Given the description of an element on the screen output the (x, y) to click on. 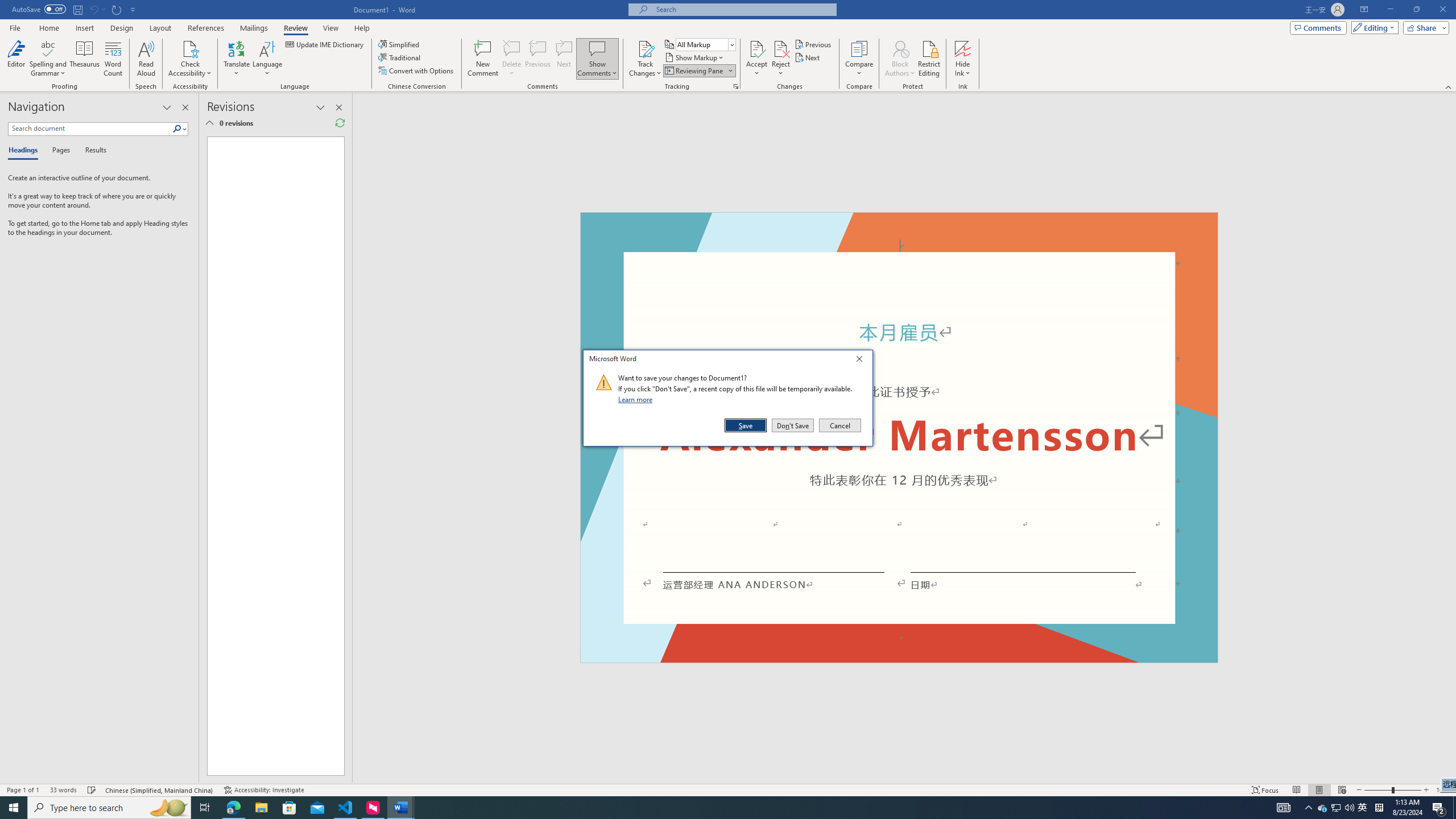
Editor (16, 58)
Learn more (636, 399)
Mailings (253, 28)
Previous (813, 44)
Search (177, 128)
Q2790: 100% (1349, 807)
Simplified (400, 44)
Show Markup (695, 56)
Reviewing Pane (698, 69)
Repeat Doc Close (117, 9)
Search document (89, 128)
Microsoft search (742, 9)
Check Accessibility (189, 48)
Tray Input Indicator - Chinese (Simplified, China) (1378, 807)
